Given the description of an element on the screen output the (x, y) to click on. 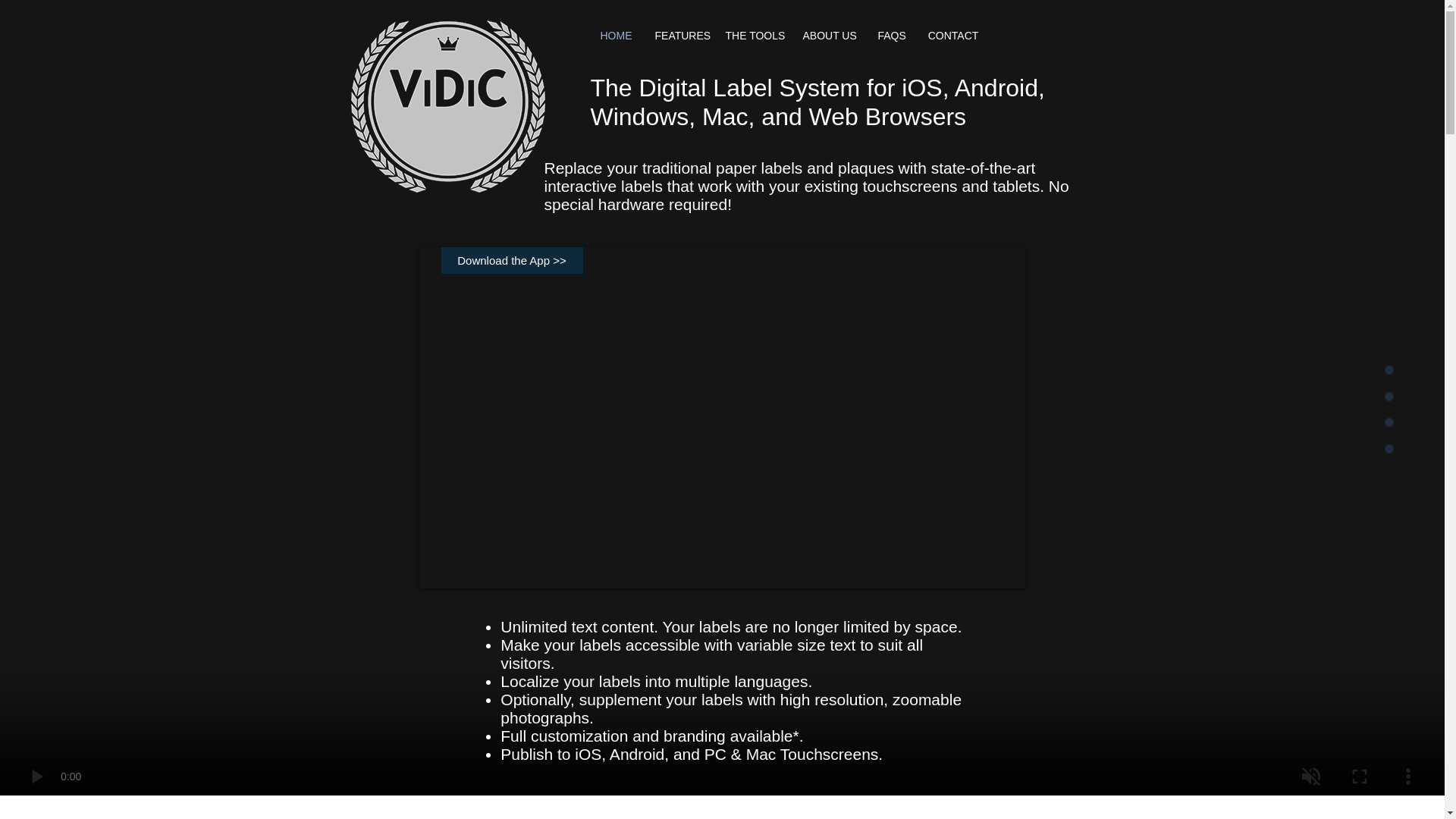
THE TOOLS (753, 35)
HOME (615, 35)
CONTACT (952, 35)
FAQS (890, 35)
ABOUT US (829, 35)
FEATURES (678, 35)
